Given the description of an element on the screen output the (x, y) to click on. 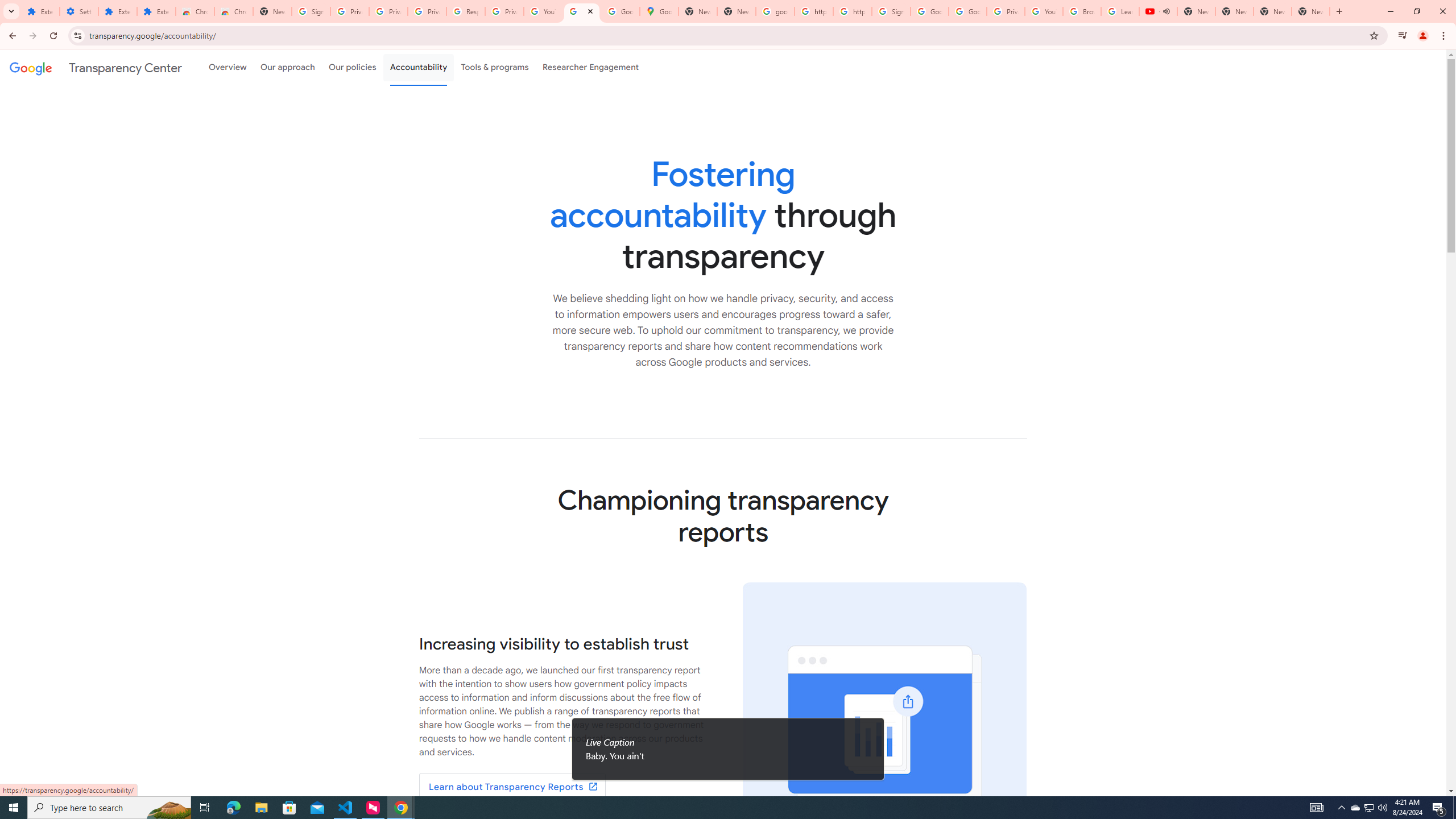
Tools & programs (494, 67)
Control your music, videos, and more (1402, 35)
Google Maps (659, 11)
YouTube (542, 11)
